Given the description of an element on the screen output the (x, y) to click on. 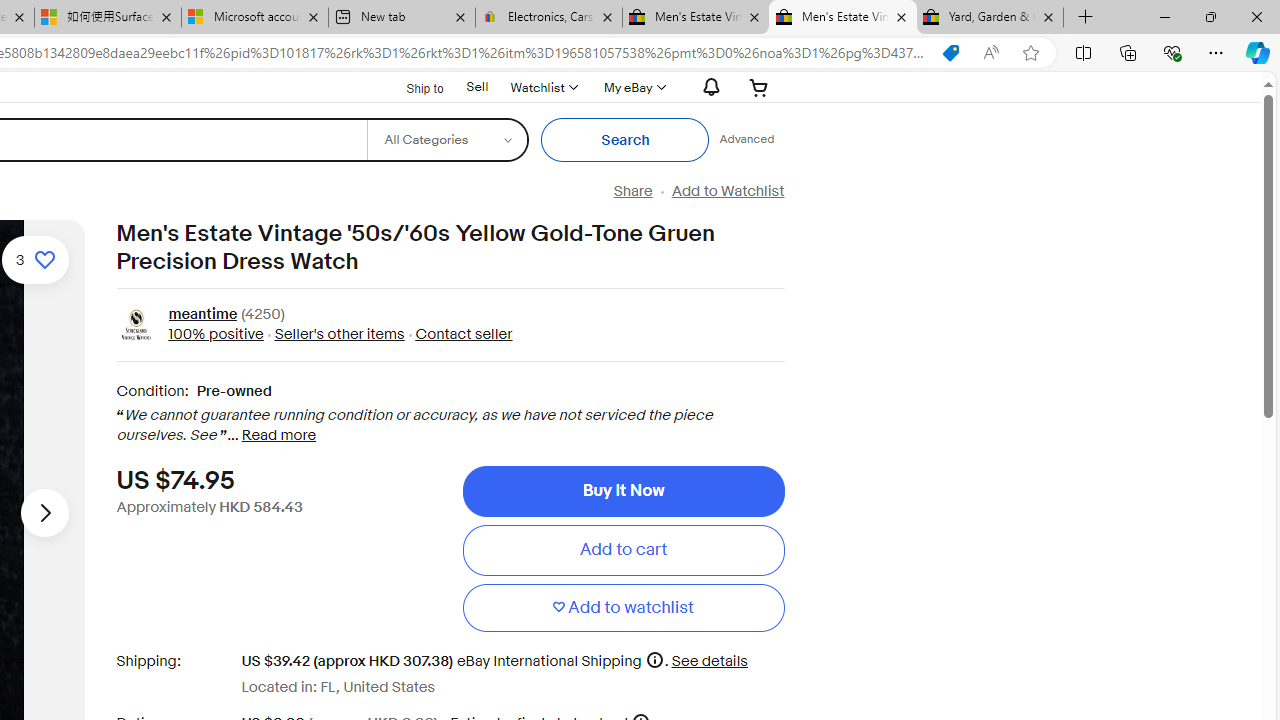
meantime (202, 315)
Add to Watchlist (727, 191)
Microsoft account | Account Checkup (254, 17)
Watchlist (543, 87)
My eBayExpand My eBay (632, 87)
Expand Cart (759, 87)
  Contact seller (458, 334)
Add to watchlist - 3 watchers (35, 259)
100% positive (215, 334)
